Given the description of an element on the screen output the (x, y) to click on. 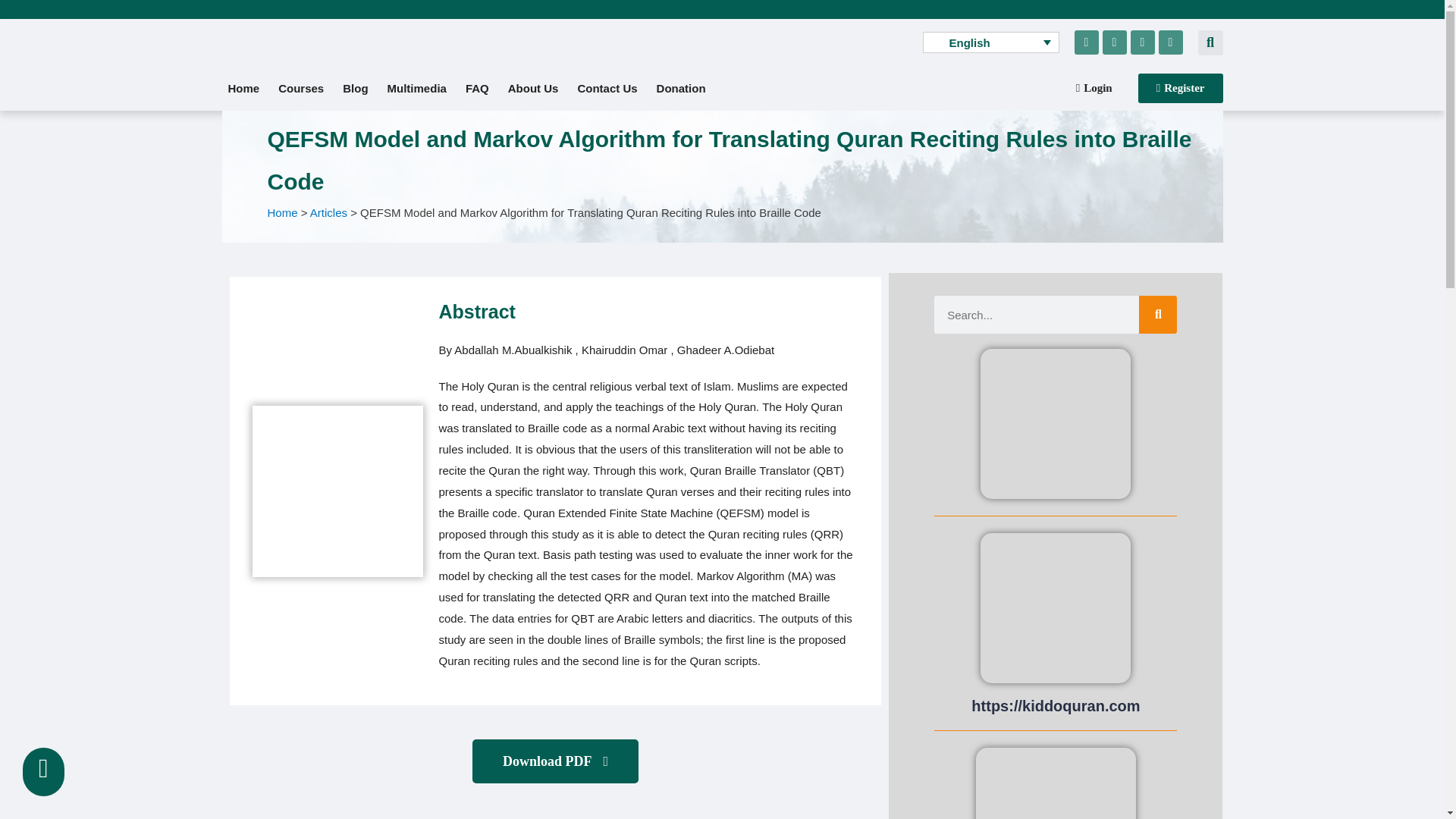
Envelope (1170, 42)
Blog (355, 88)
Youtube (1114, 42)
FAQ (477, 88)
Donation (680, 88)
Courses (301, 88)
English (989, 42)
Contact Us (606, 88)
Home (242, 88)
About Us (533, 88)
